Given the description of an element on the screen output the (x, y) to click on. 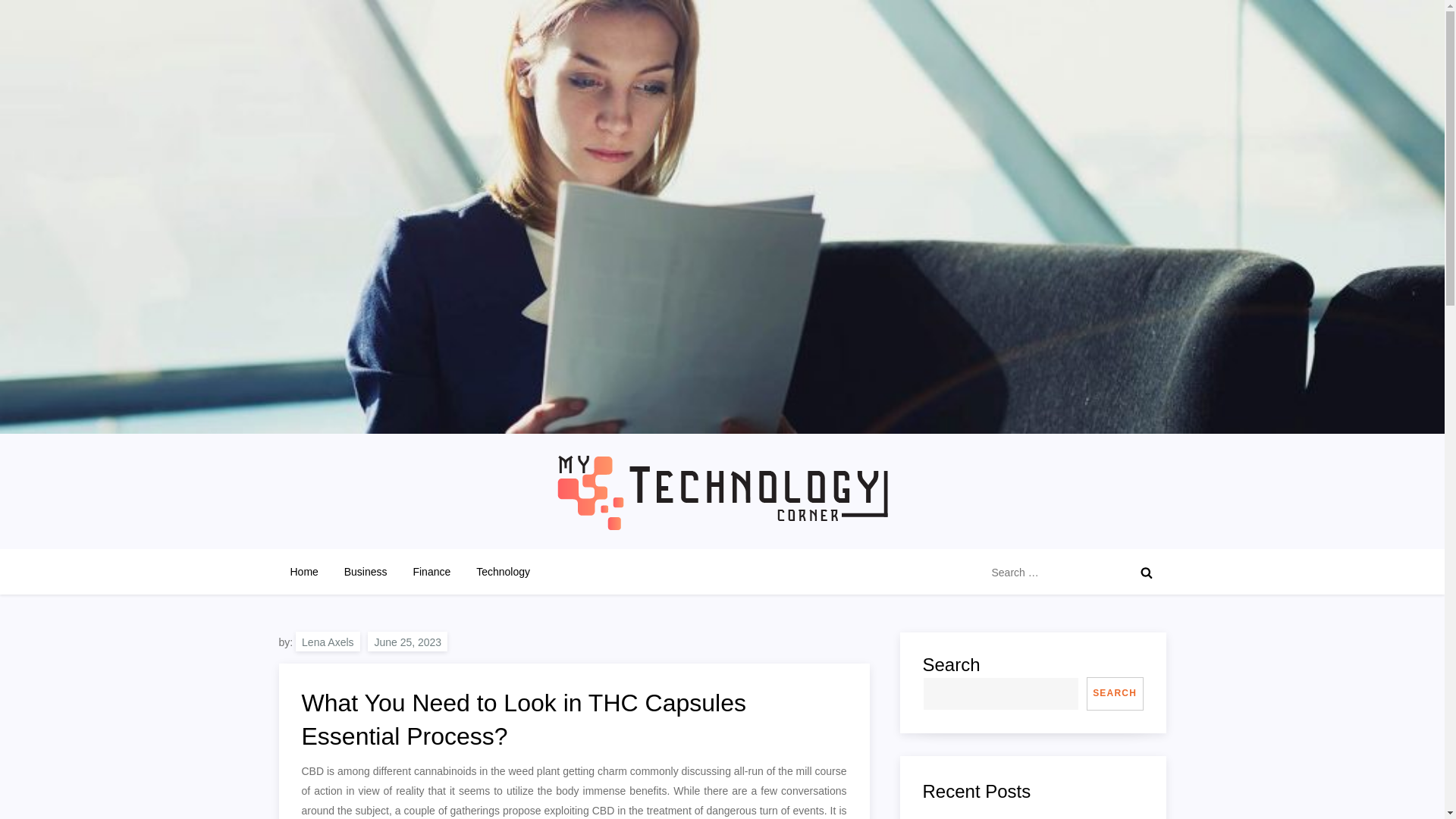
Finance (431, 571)
My Technology Corner (401, 543)
Technology (502, 571)
SEARCH (1114, 693)
Business (365, 571)
June 25, 2023 (407, 640)
Home (304, 571)
Lena Axels (327, 640)
